Given the description of an element on the screen output the (x, y) to click on. 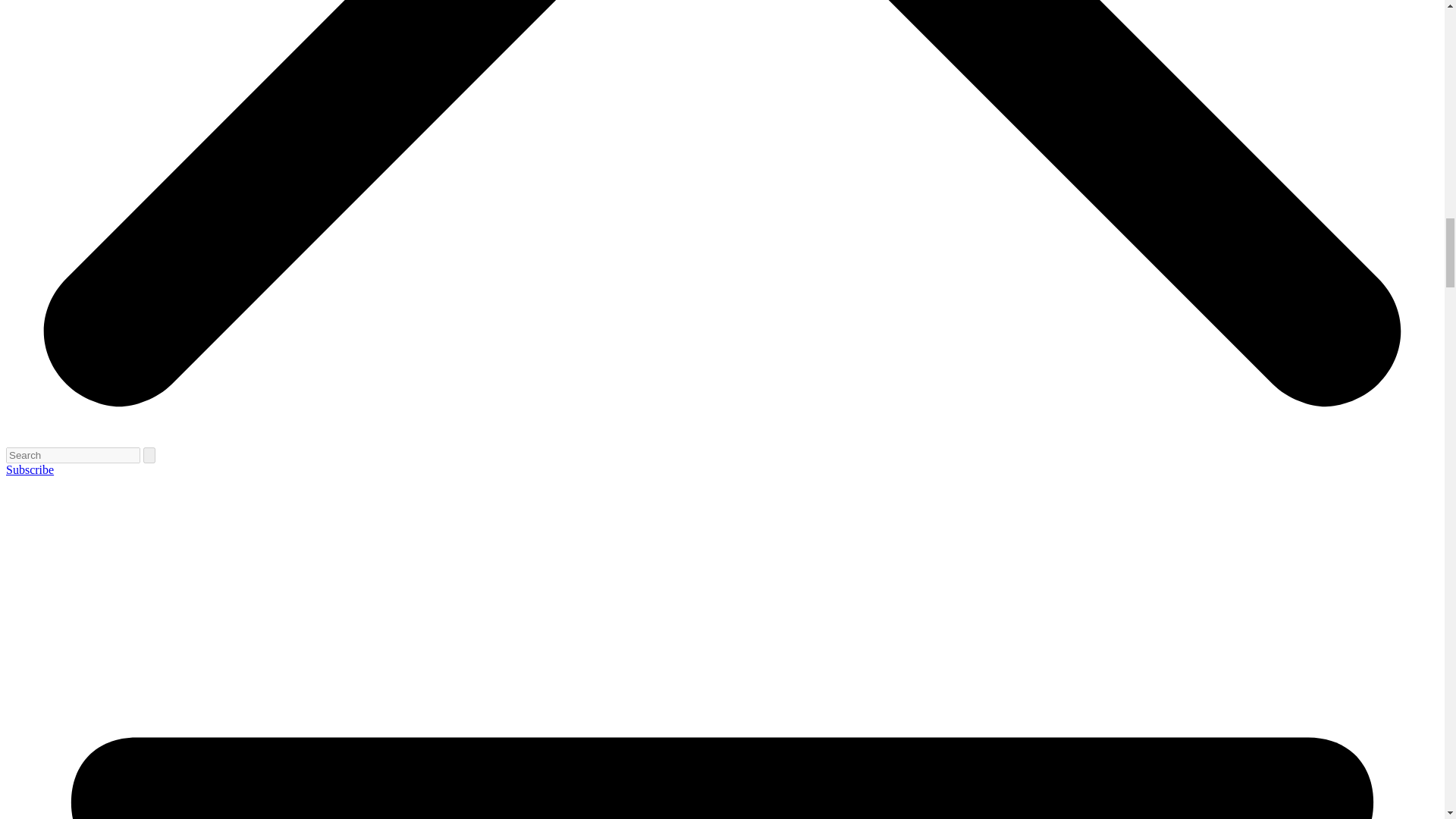
Subscribe (29, 469)
Submit the search query. (148, 455)
